Given the description of an element on the screen output the (x, y) to click on. 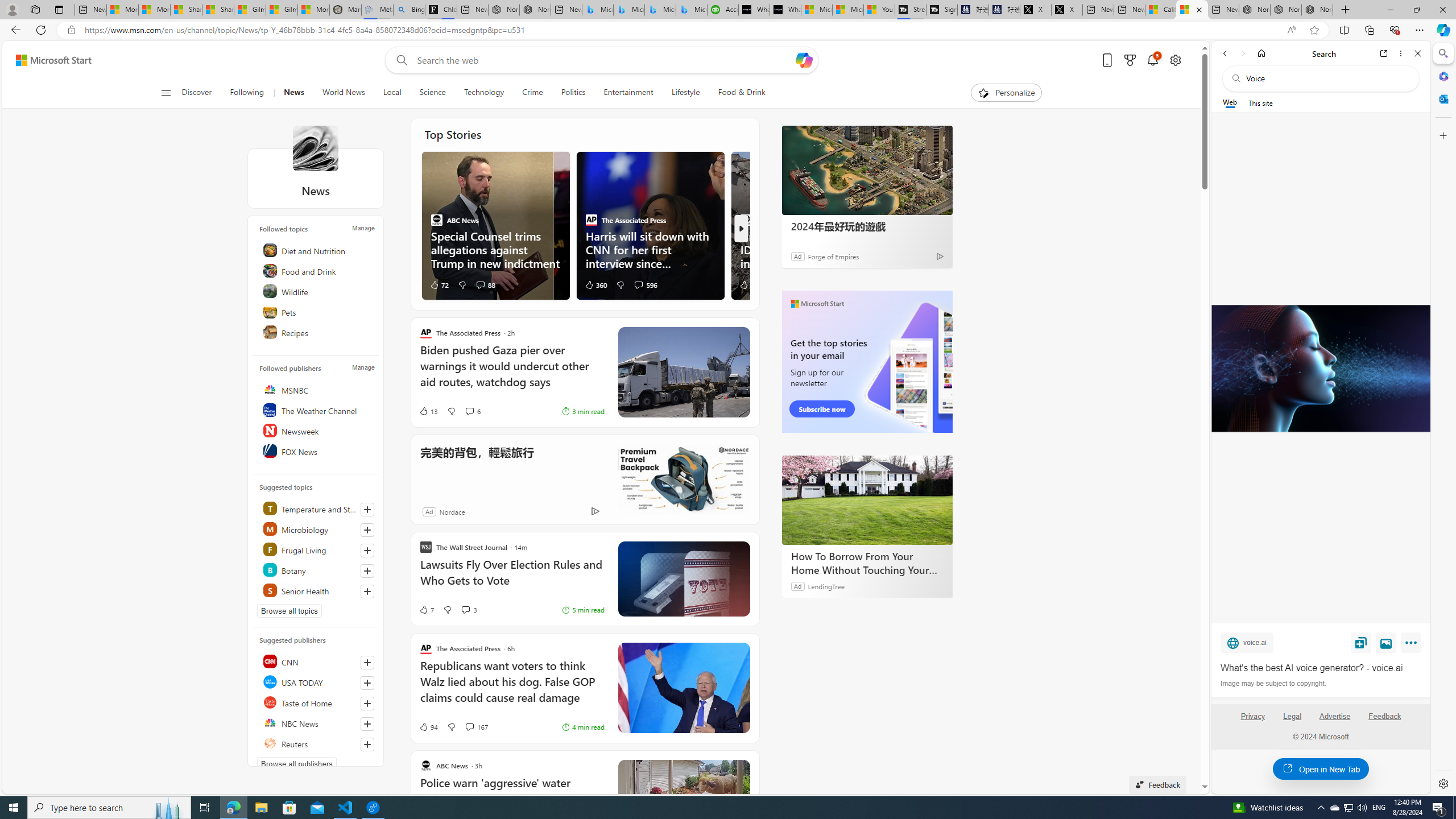
Entertainment (628, 92)
Privacy (1252, 715)
Follow this source (367, 744)
7 Like (425, 609)
View comments 3 Comment (468, 609)
94 Like (427, 726)
Legal (1292, 720)
News (314, 148)
Class: highlight (317, 590)
Side bar (1443, 418)
